Given the description of an element on the screen output the (x, y) to click on. 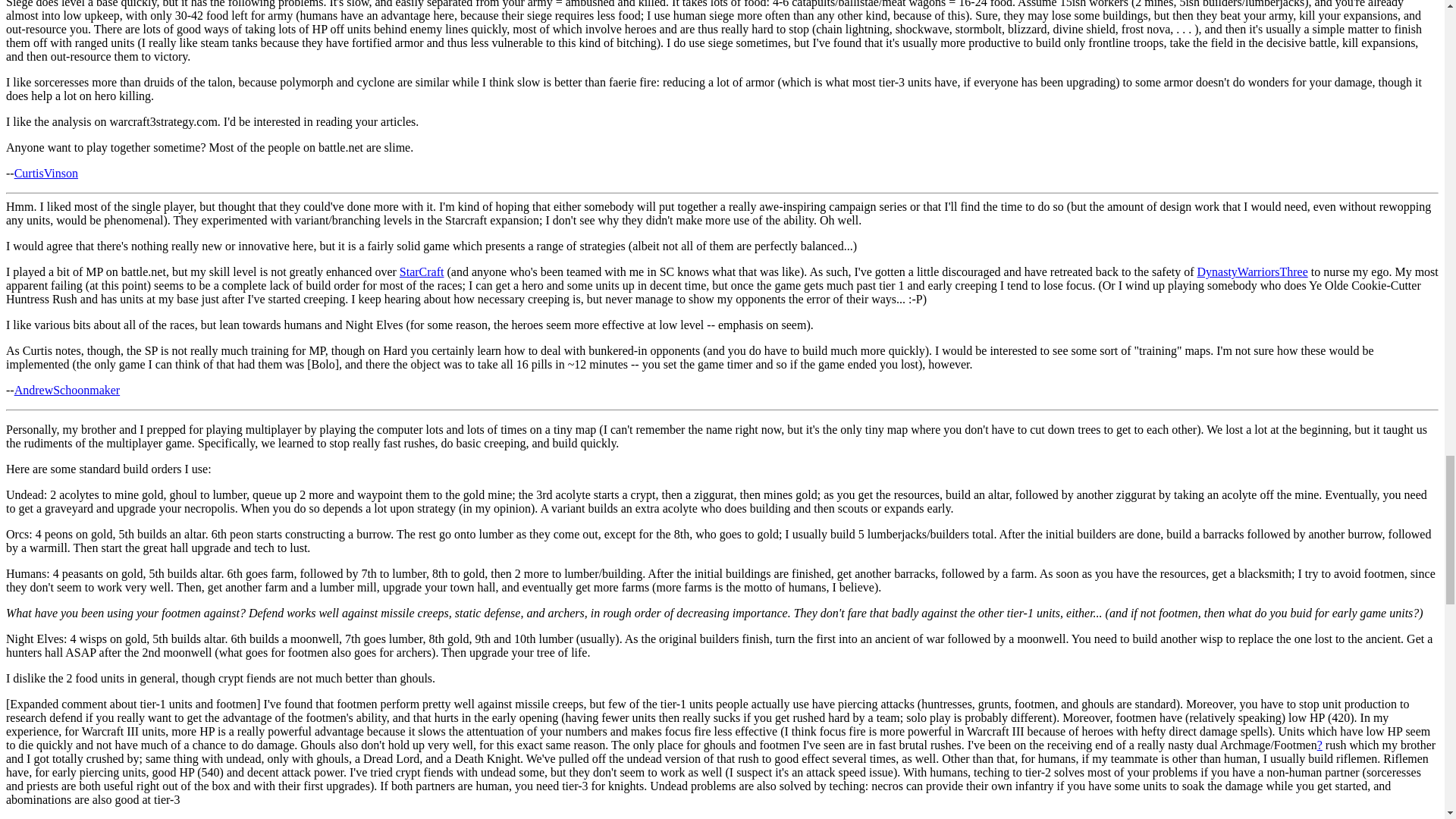
AndrewSchoonmaker (67, 390)
CurtisVinson (46, 173)
StarCraft (421, 271)
DynastyWarriorsThree (1251, 271)
? (1319, 744)
